Given the description of an element on the screen output the (x, y) to click on. 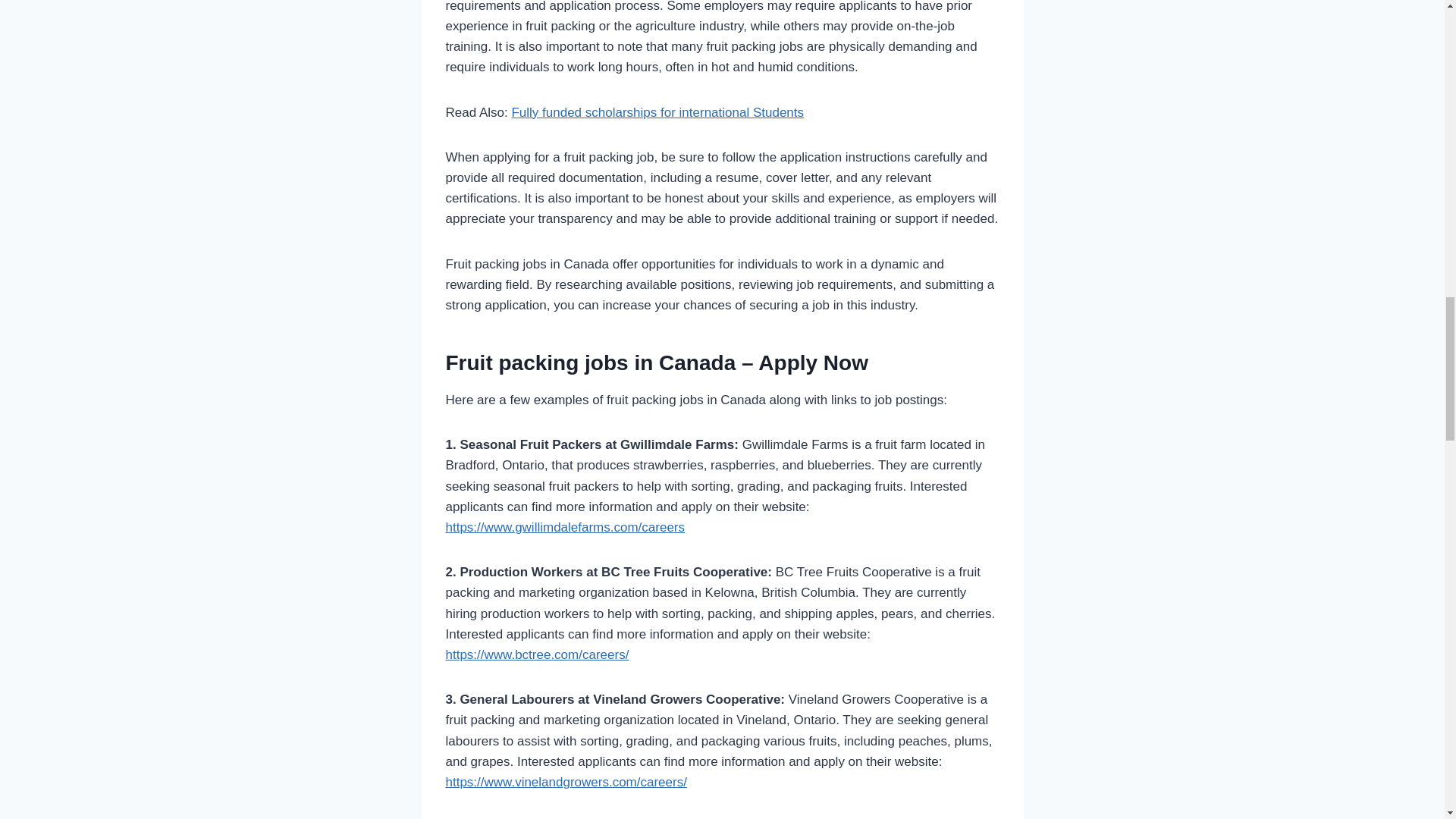
Fully funded scholarships for international Students (657, 112)
